Given the description of an element on the screen output the (x, y) to click on. 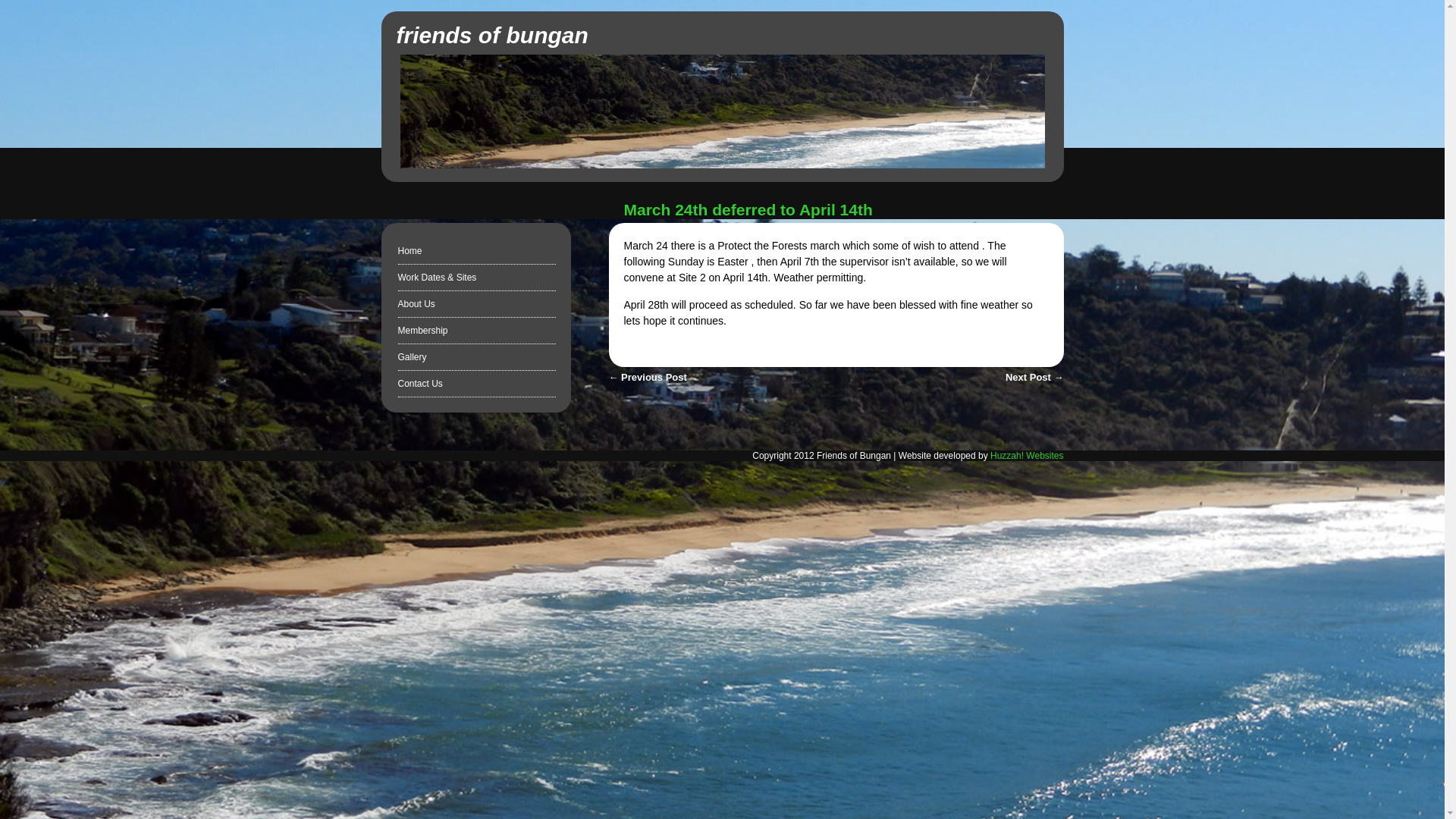
Contact Us (419, 383)
Gallery (411, 357)
About Us (415, 303)
Huzzah! Websites (1027, 455)
Huzzah! Websites (1027, 455)
Friends of Bungan (492, 34)
Membership (421, 330)
friends of bungan (492, 34)
Home (409, 250)
Friends of Bungan (722, 164)
